Given the description of an element on the screen output the (x, y) to click on. 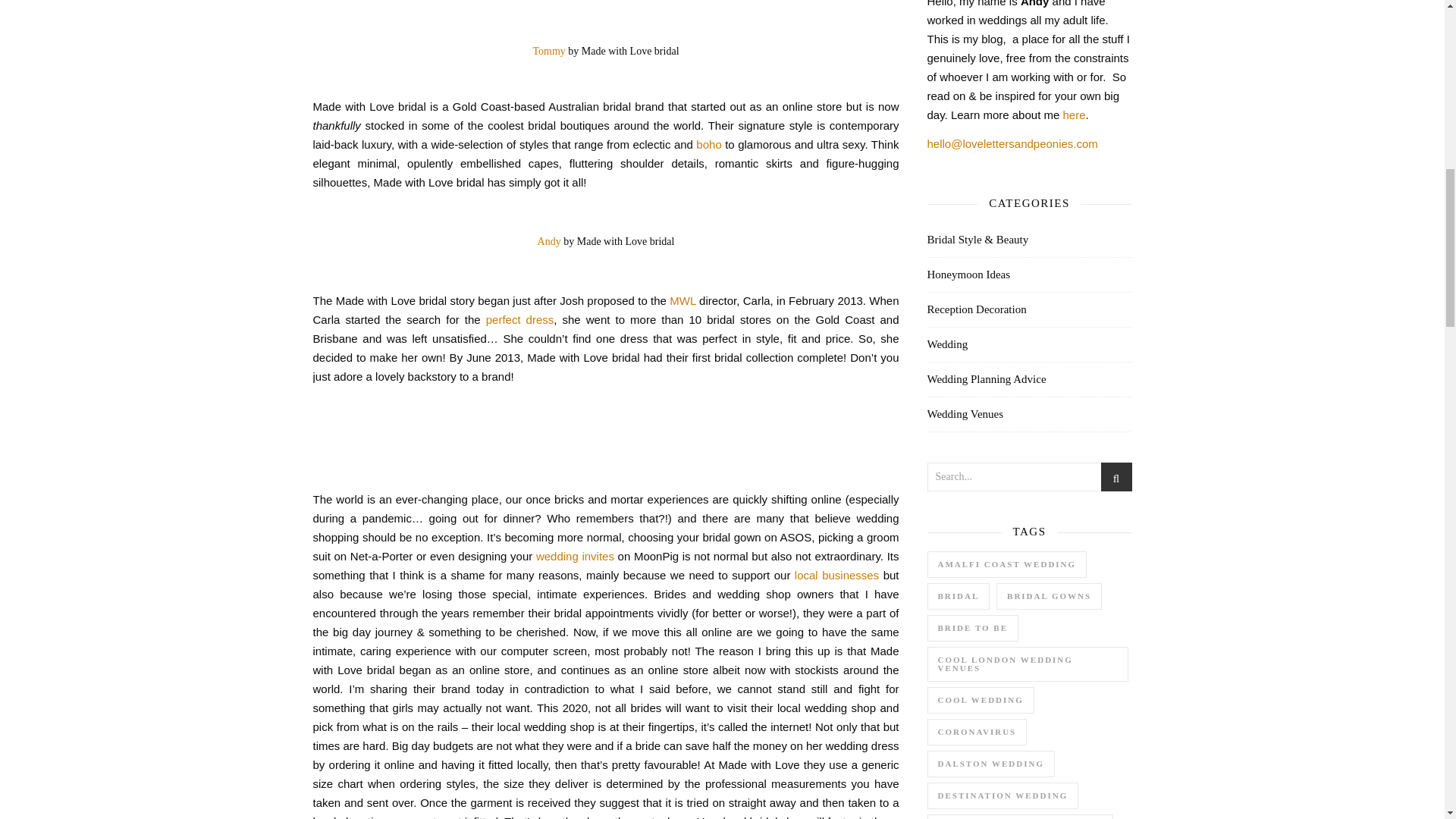
local businesses (836, 574)
perfect dress (520, 318)
boho (707, 144)
Andy (548, 240)
wedding invites (574, 554)
MWL (682, 300)
Tommy (548, 49)
